Given the description of an element on the screen output the (x, y) to click on. 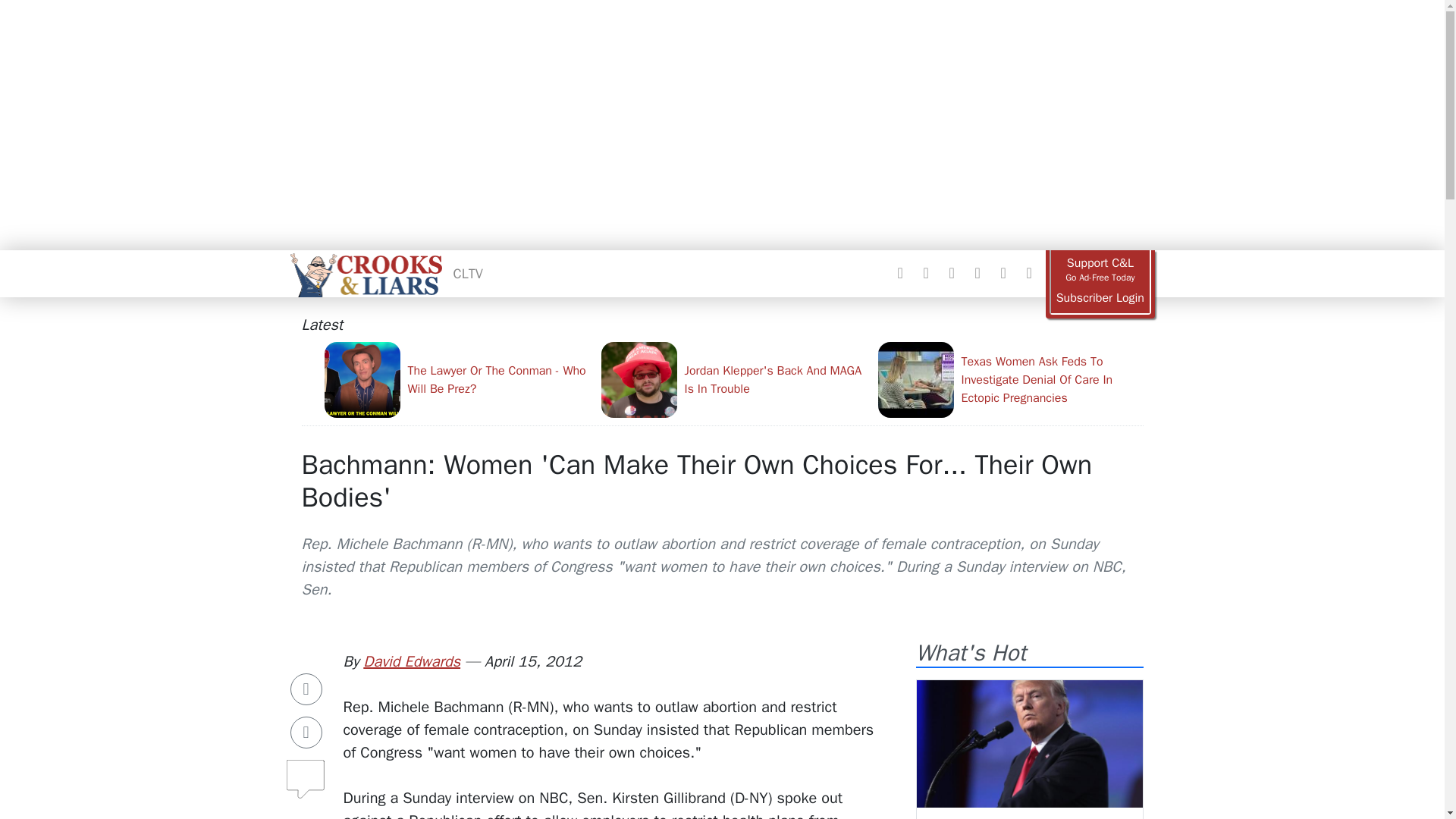
Share on Facebook (306, 689)
The Lawyer Or The Conman - Who Will Be Prez? (456, 379)
Subscriber Login (1099, 298)
David Edwards (411, 660)
Jordan Klepper's Back And MAGA Is In Trouble (732, 379)
Go ad free today! (1099, 270)
CLTV (467, 273)
Share on Twitter (306, 732)
Jordan Klepper's Back And MAGA Is In Trouble (732, 379)
